Given the description of an element on the screen output the (x, y) to click on. 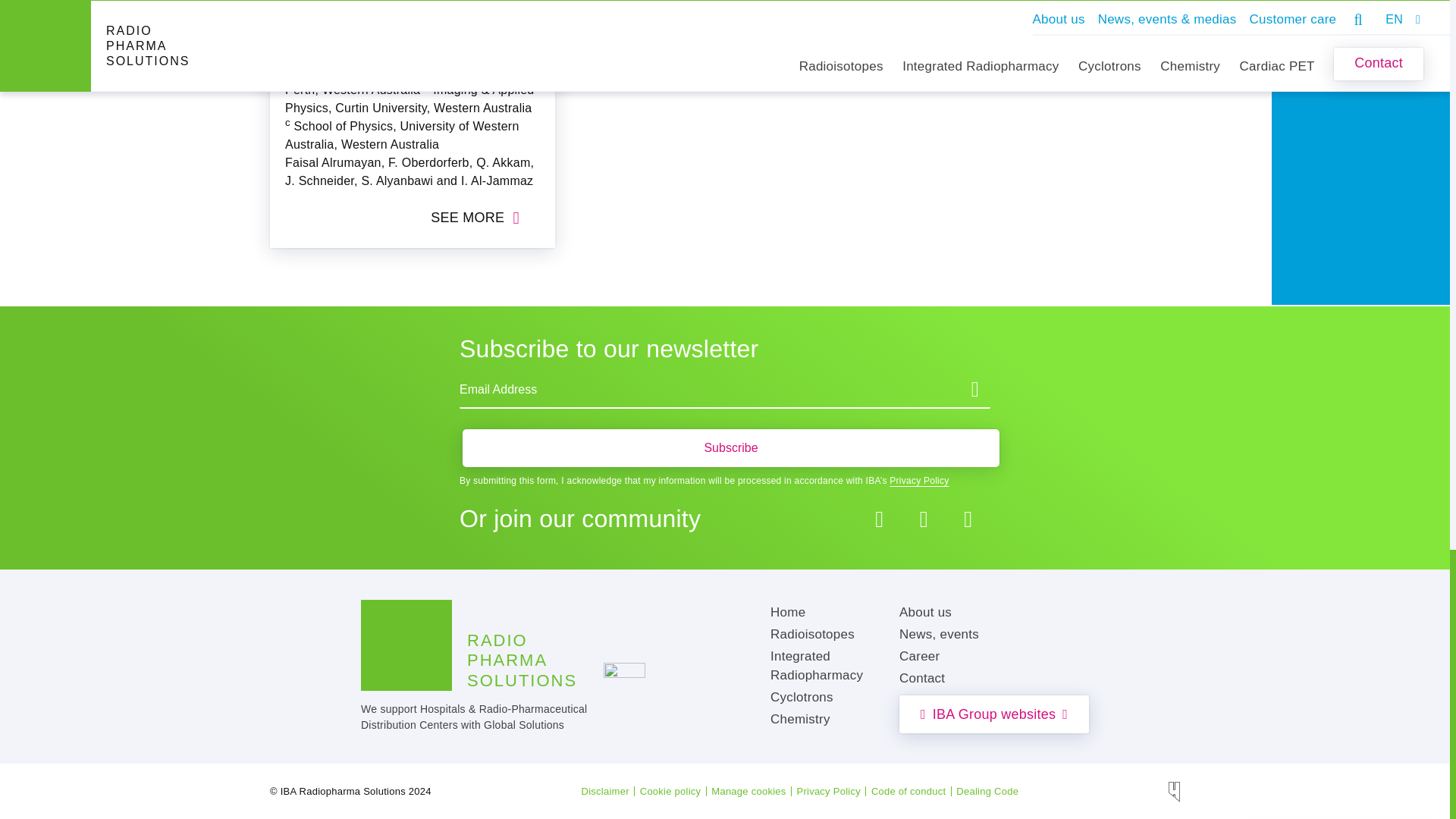
Twitter (967, 519)
Facebook (879, 519)
LinkedIn (923, 519)
